Given the description of an element on the screen output the (x, y) to click on. 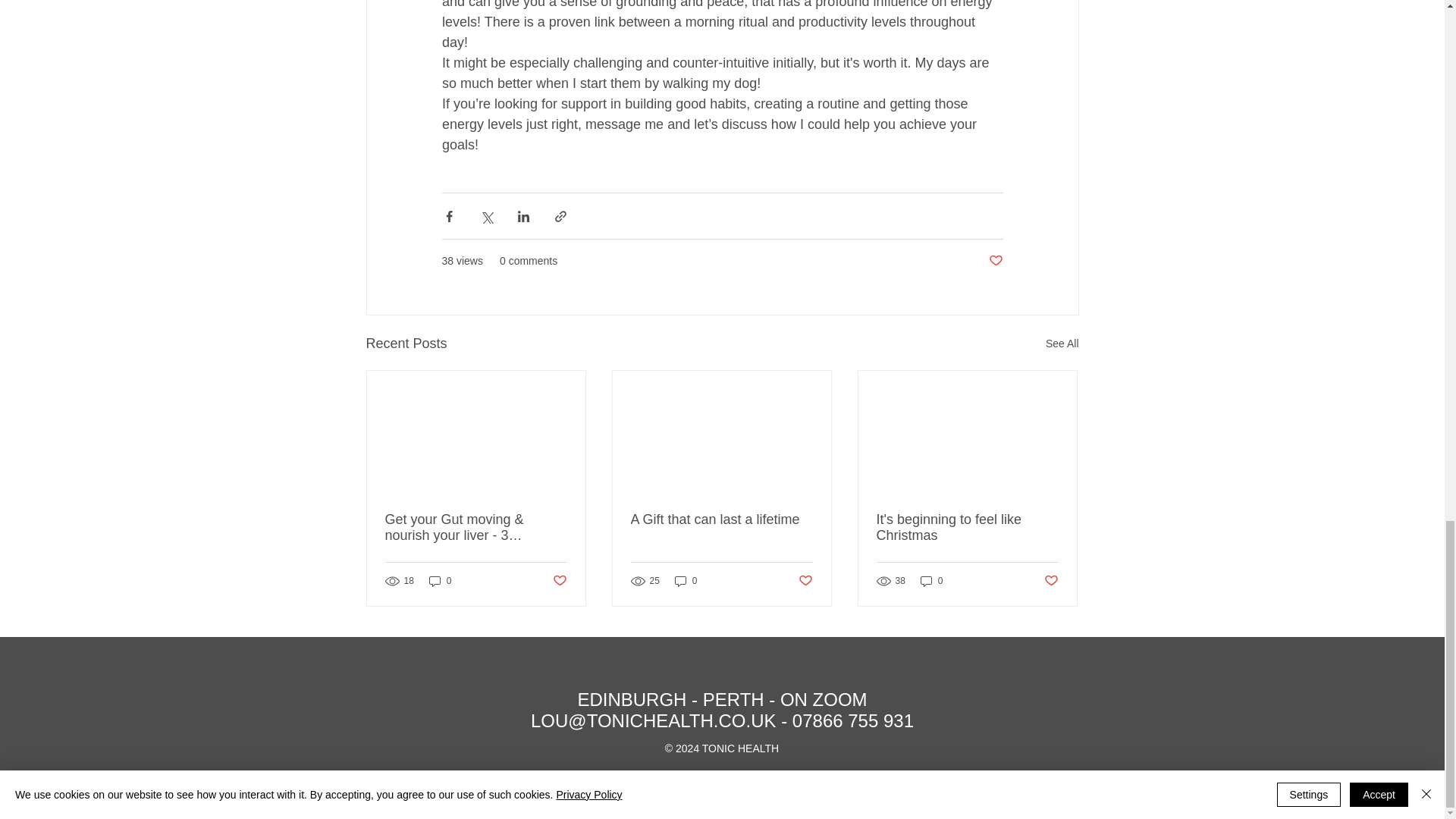
Post not marked as liked (995, 261)
A Gift that can last a lifetime (721, 519)
Post not marked as liked (558, 580)
It's beginning to feel like Christmas (967, 527)
0 (931, 581)
0 (685, 581)
0 (440, 581)
See All (1061, 343)
Post not marked as liked (1050, 580)
Post not marked as liked (804, 580)
